Given the description of an element on the screen output the (x, y) to click on. 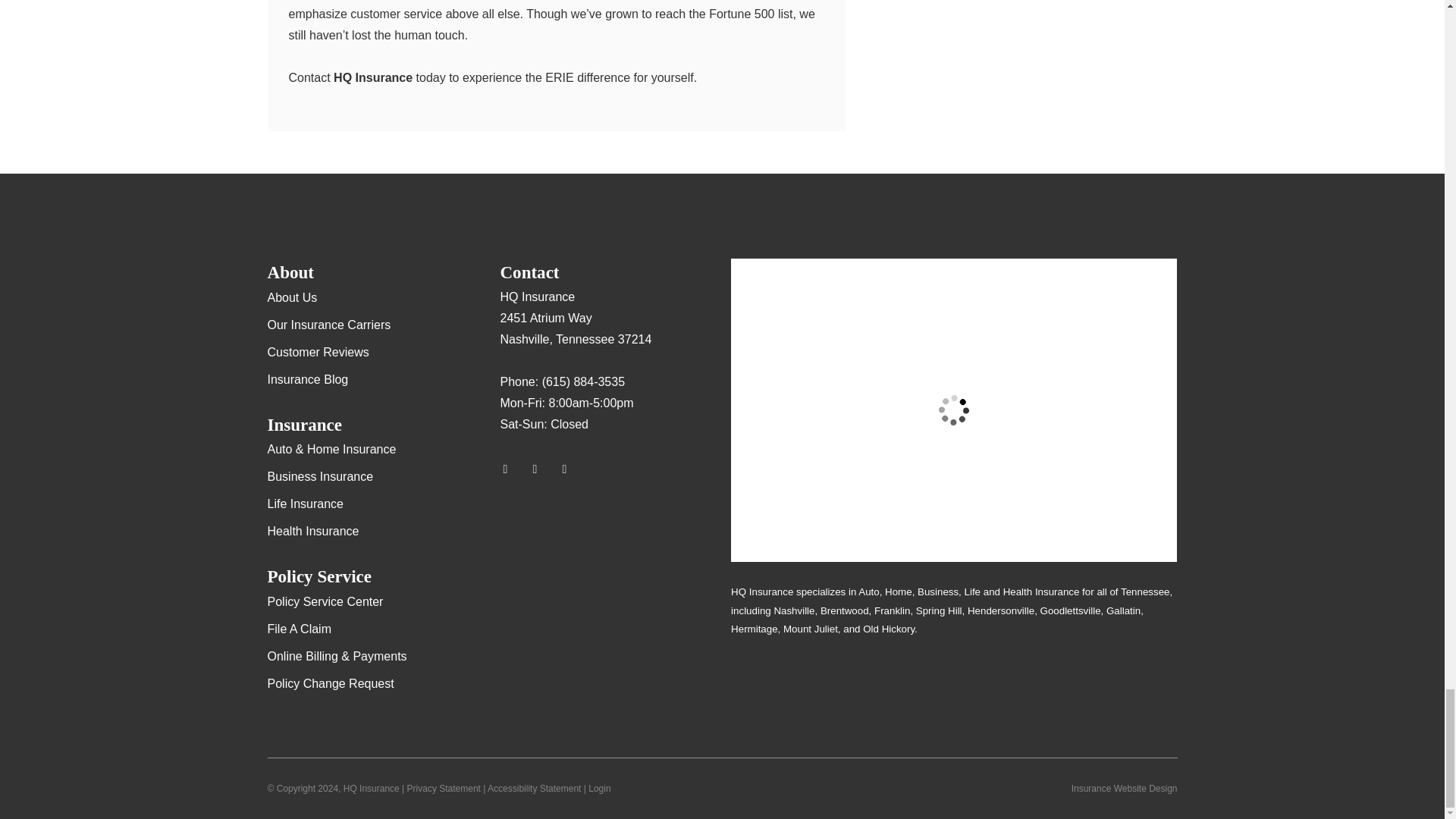
Facebook (571, 469)
Google Maps (511, 469)
Yelp (541, 469)
